Given the description of an element on the screen output the (x, y) to click on. 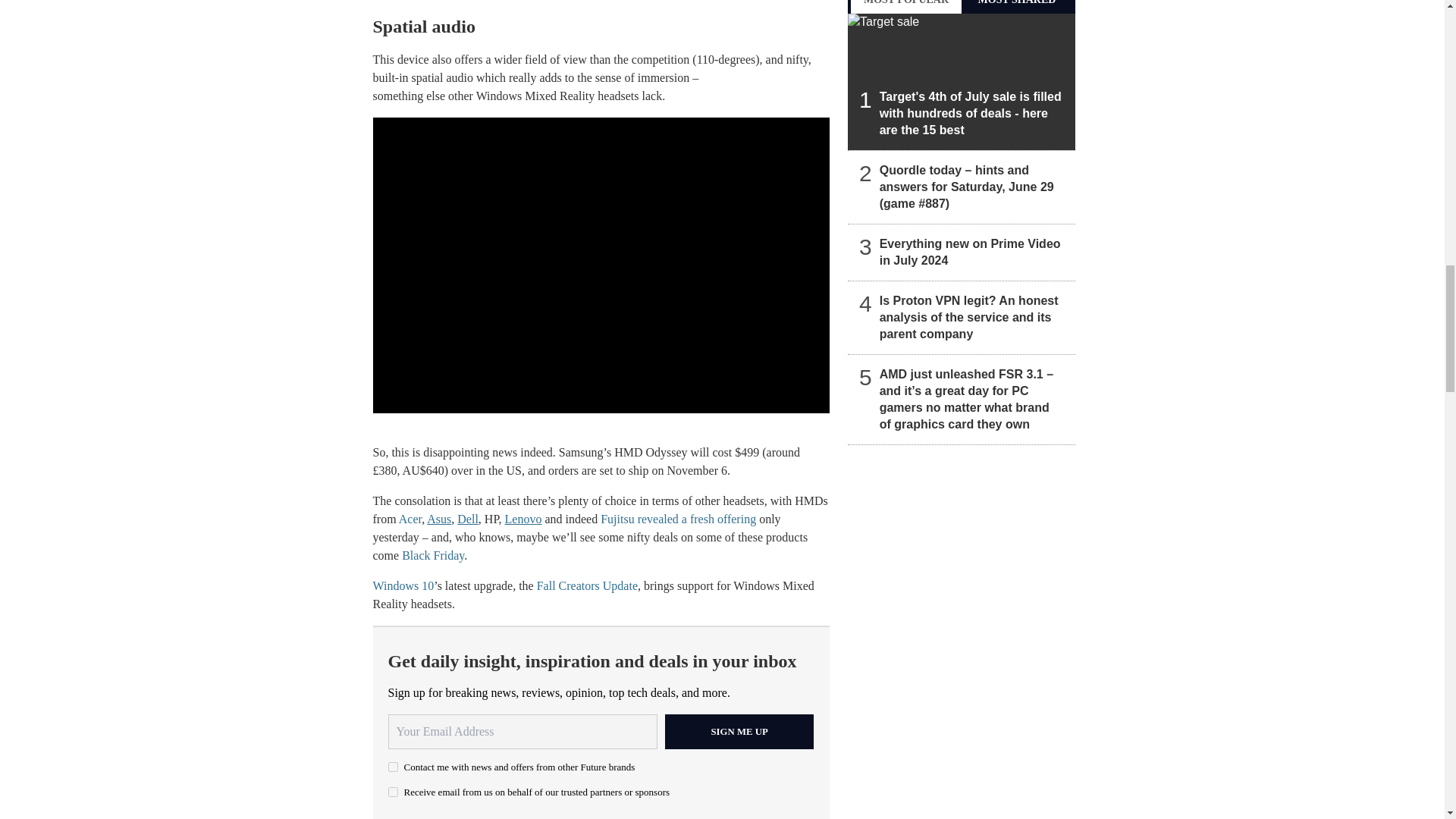
on (392, 767)
Sign me up (739, 731)
on (392, 791)
